Given the description of an element on the screen output the (x, y) to click on. 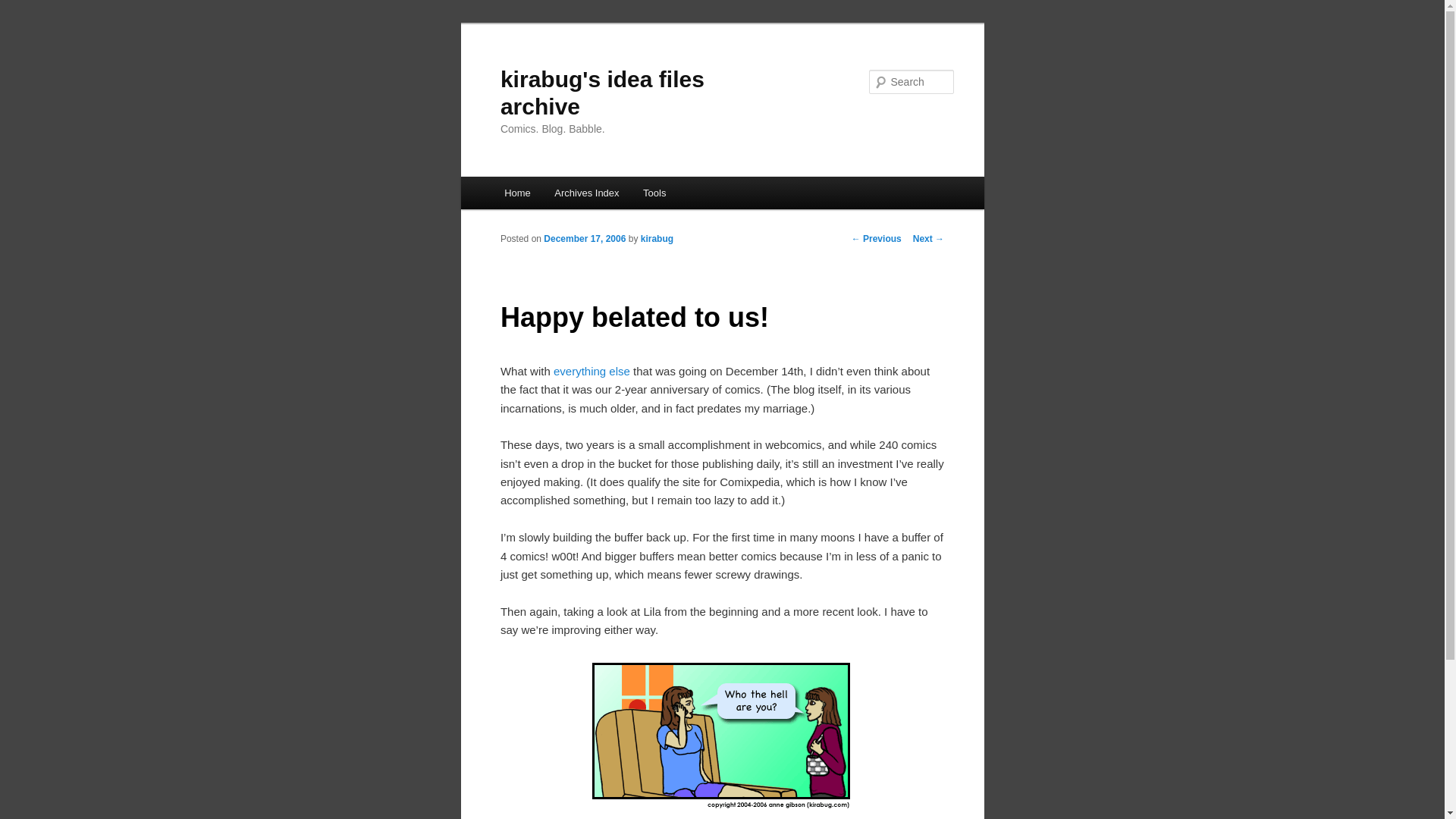
11:21 pm (584, 238)
Search (24, 8)
Tools (654, 192)
Archives Index (587, 192)
kirabug's idea files archive (602, 92)
December 17, 2006 (584, 238)
everything else (591, 370)
Home (516, 192)
kirabug (656, 238)
View all posts by kirabug (656, 238)
